Given the description of an element on the screen output the (x, y) to click on. 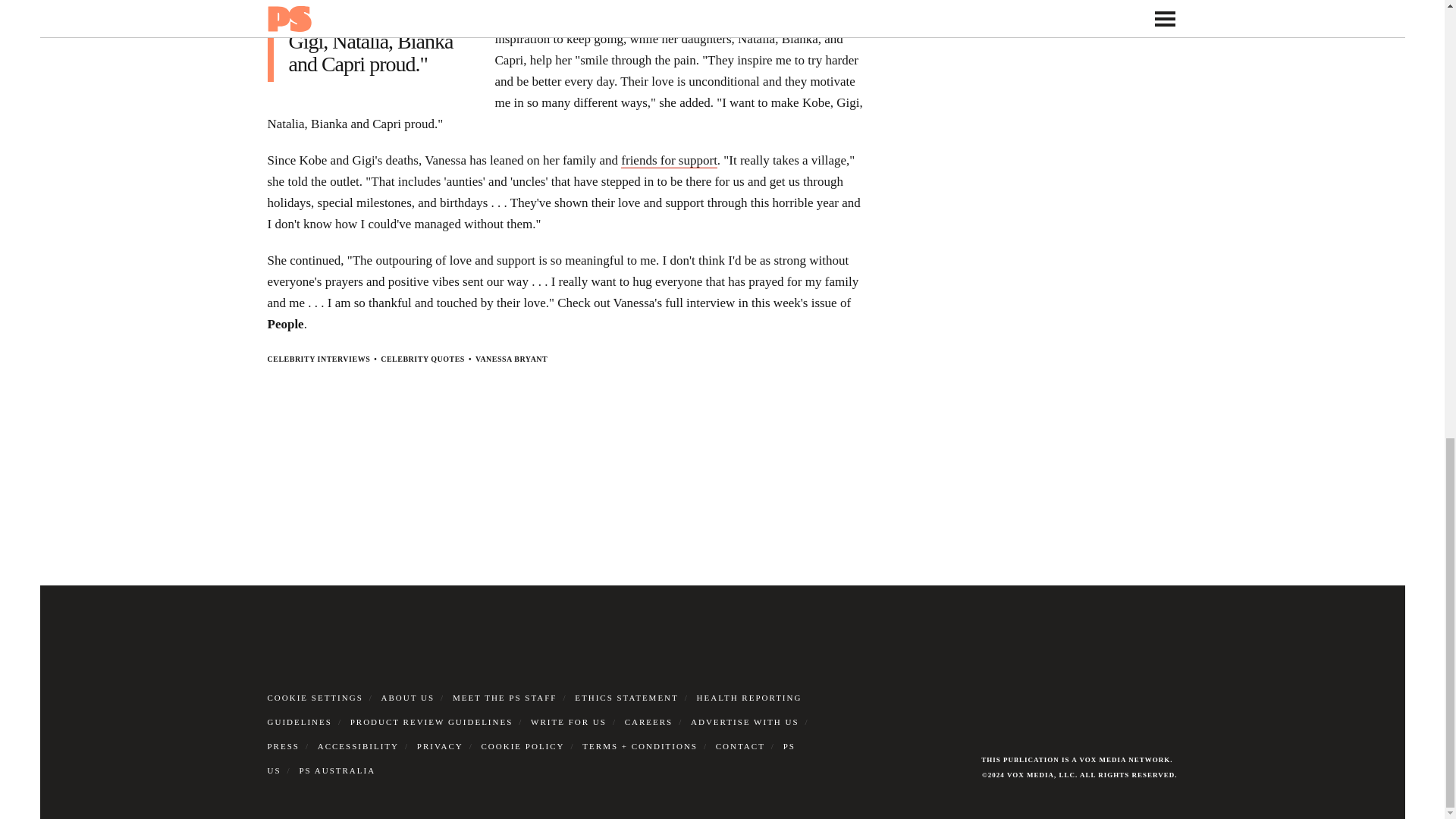
CAREERS (648, 721)
PRIVACY (439, 746)
MEET THE PS STAFF (504, 697)
HEALTH REPORTING GUIDELINES (534, 709)
CONTACT (740, 746)
CELEBRITY QUOTES (422, 358)
PS AUSTRALIA (336, 770)
COOKIE POLICY (522, 746)
PRODUCT REVIEW GUIDELINES (431, 721)
ADVERTISE WITH US (744, 721)
PRESS (282, 746)
CELEBRITY INTERVIEWS (317, 358)
WRITE FOR US (569, 721)
PS US (530, 758)
ACCESSIBILITY (357, 746)
